Given the description of an element on the screen output the (x, y) to click on. 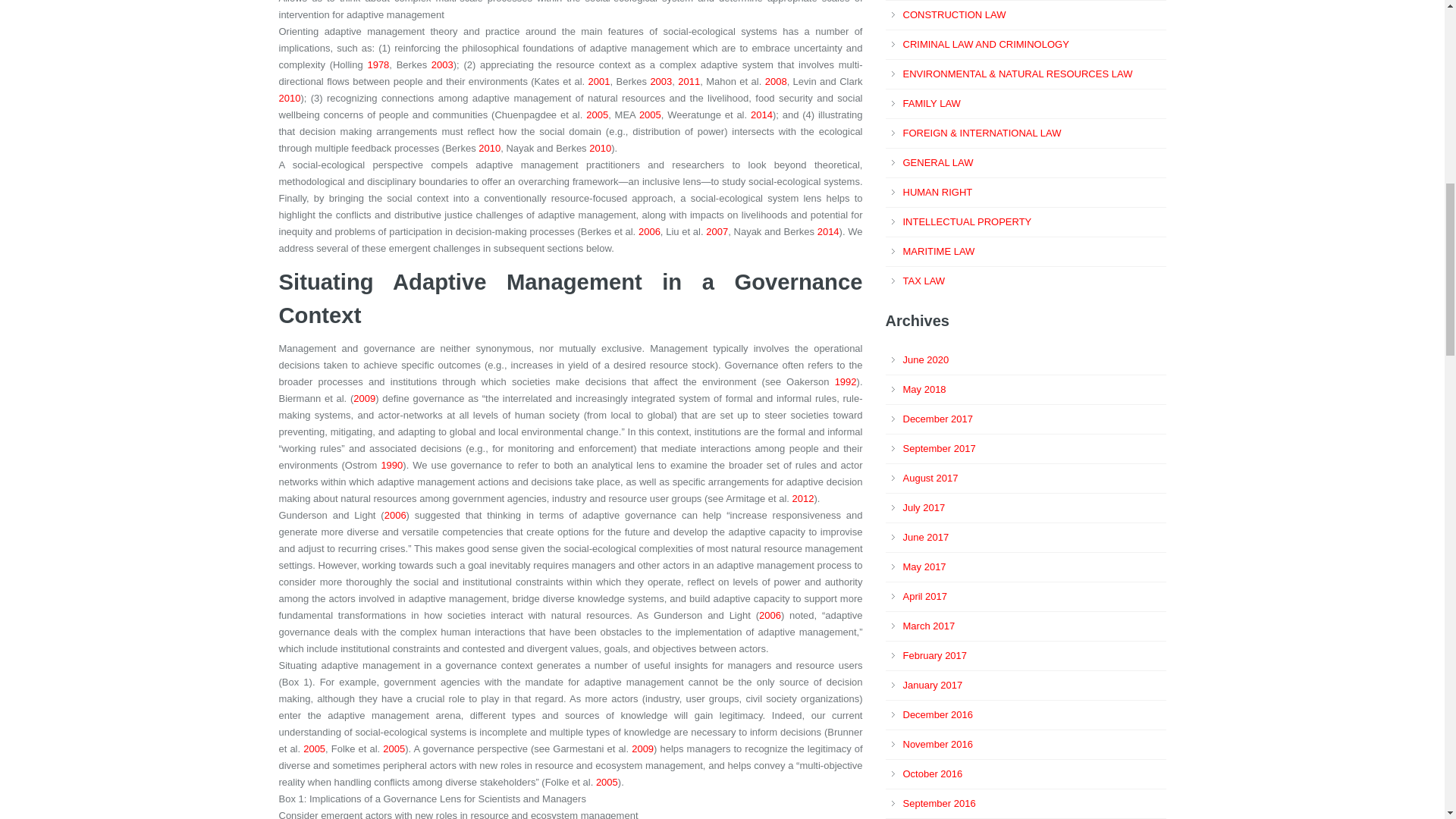
2011 (689, 81)
2001 (599, 81)
2014 (762, 114)
1978 (377, 64)
2005 (597, 114)
2005 (650, 114)
2003 (660, 81)
2010 (290, 98)
2008 (776, 81)
2003 (441, 64)
